Given the description of an element on the screen output the (x, y) to click on. 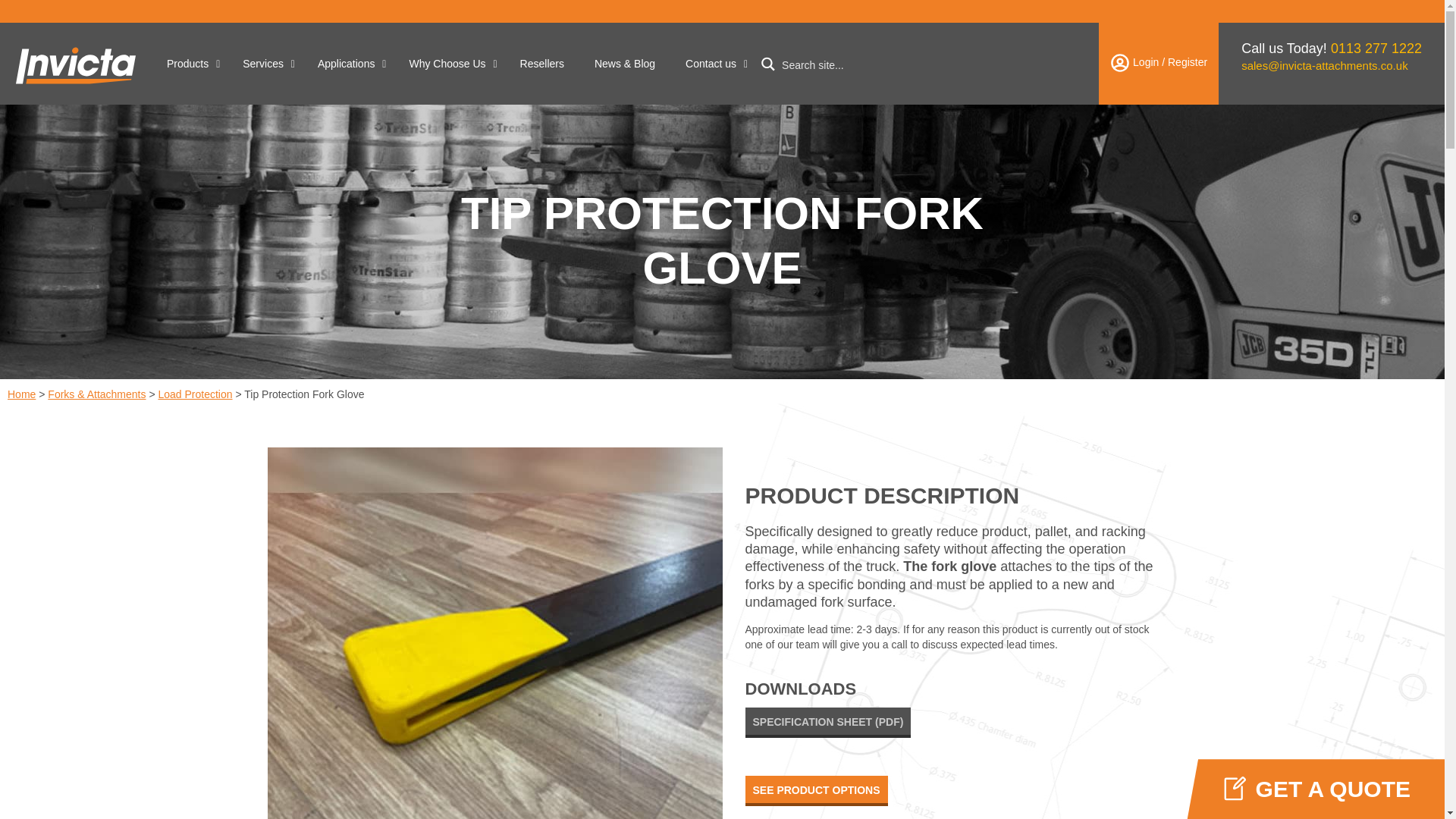
Services (264, 67)
Products (189, 67)
0113 277 1222 (1376, 48)
Applications (348, 67)
Why Choose Us (448, 67)
